Given the description of an element on the screen output the (x, y) to click on. 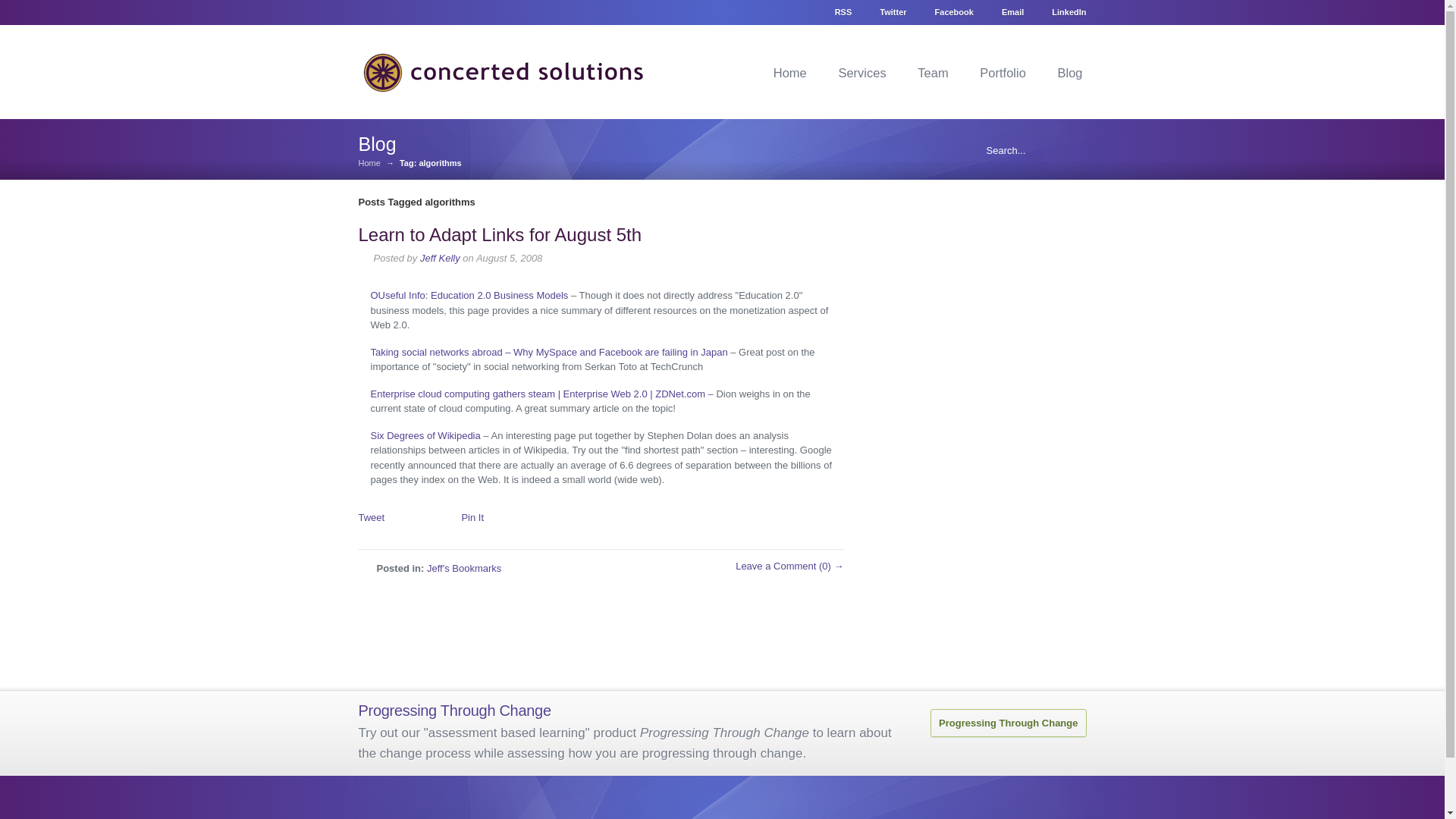
Twitter (888, 10)
Six Degrees of Wikipedia (424, 435)
Tweet (371, 517)
Team (933, 72)
LinkedIn (1060, 10)
Home (790, 72)
Jeff's Bookmarks (463, 568)
Email (1007, 10)
Learn to Adapt Links for August 5th (500, 234)
Posts by Jeff Kelly (440, 257)
Blog (1069, 72)
Facebook (949, 10)
RSS (839, 10)
Pin It (472, 517)
OUseful Info: Education 2.0 Business Models (468, 295)
